Given the description of an element on the screen output the (x, y) to click on. 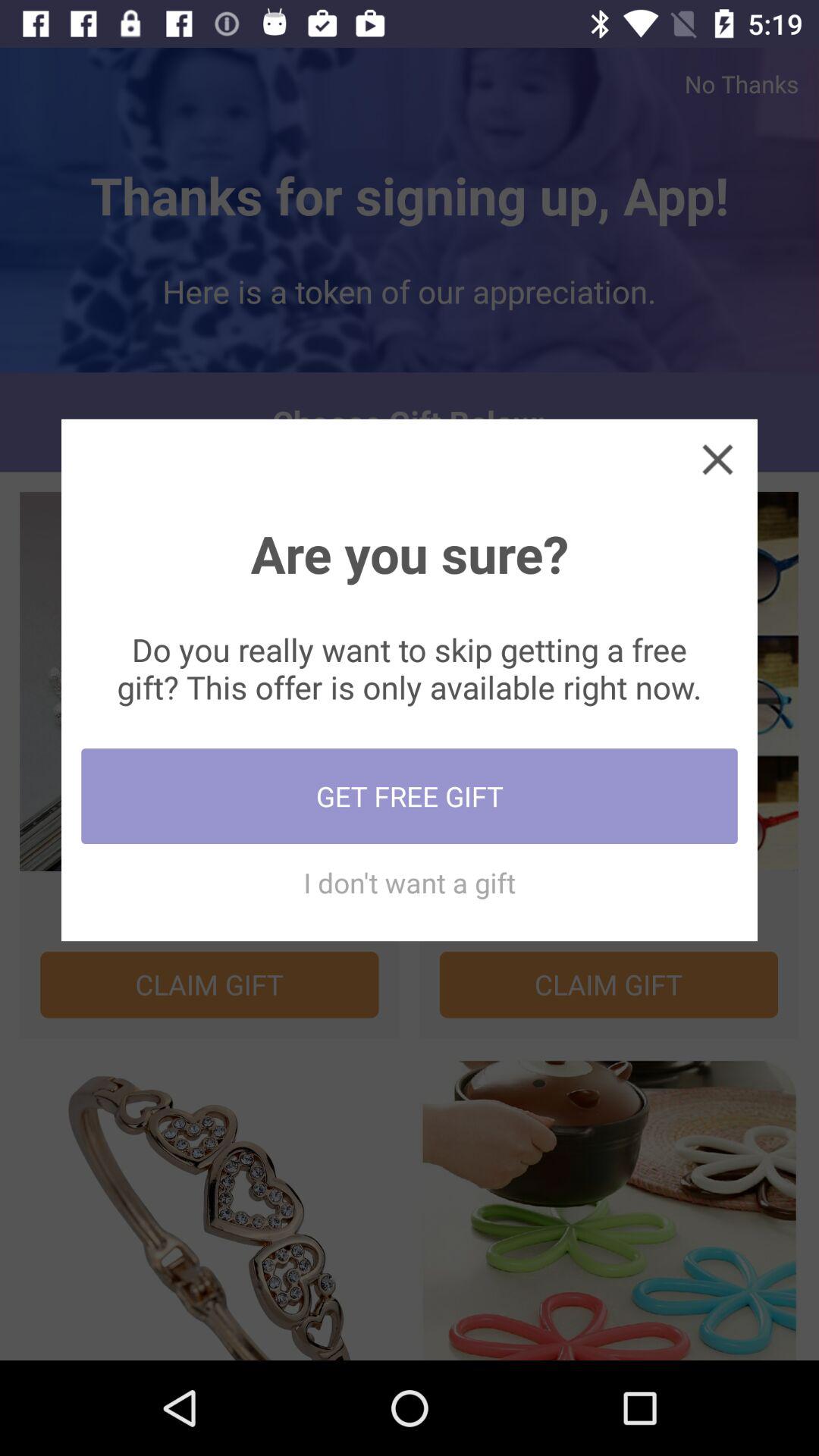
click item above the are you sure? icon (717, 458)
